Given the description of an element on the screen output the (x, y) to click on. 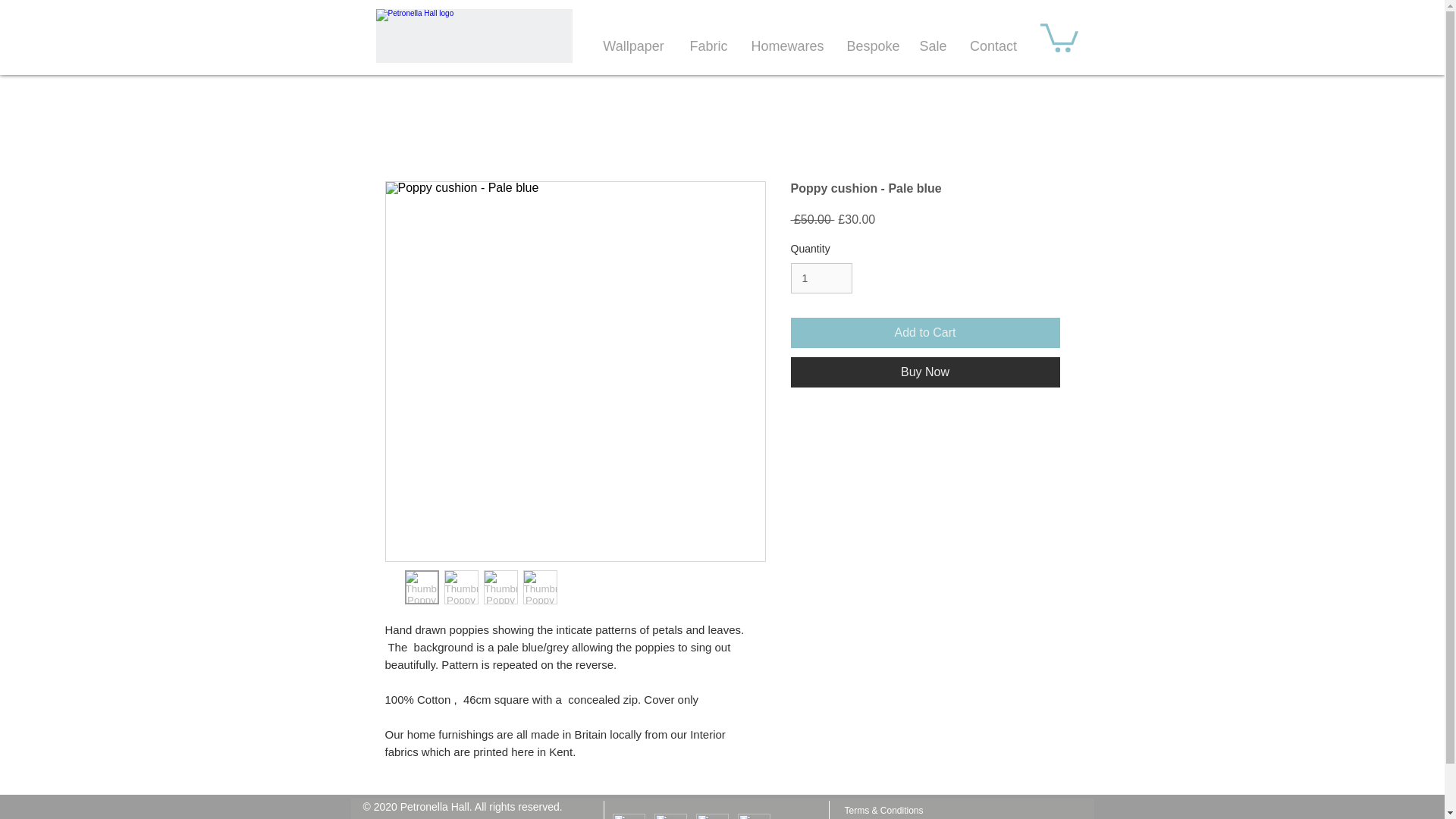
Sale (933, 46)
Buy Now (924, 372)
Add to Cart (924, 332)
Home (473, 36)
Bespoke (871, 46)
Contact (993, 46)
Privacy Policy (872, 818)
1 (820, 278)
